Given the description of an element on the screen output the (x, y) to click on. 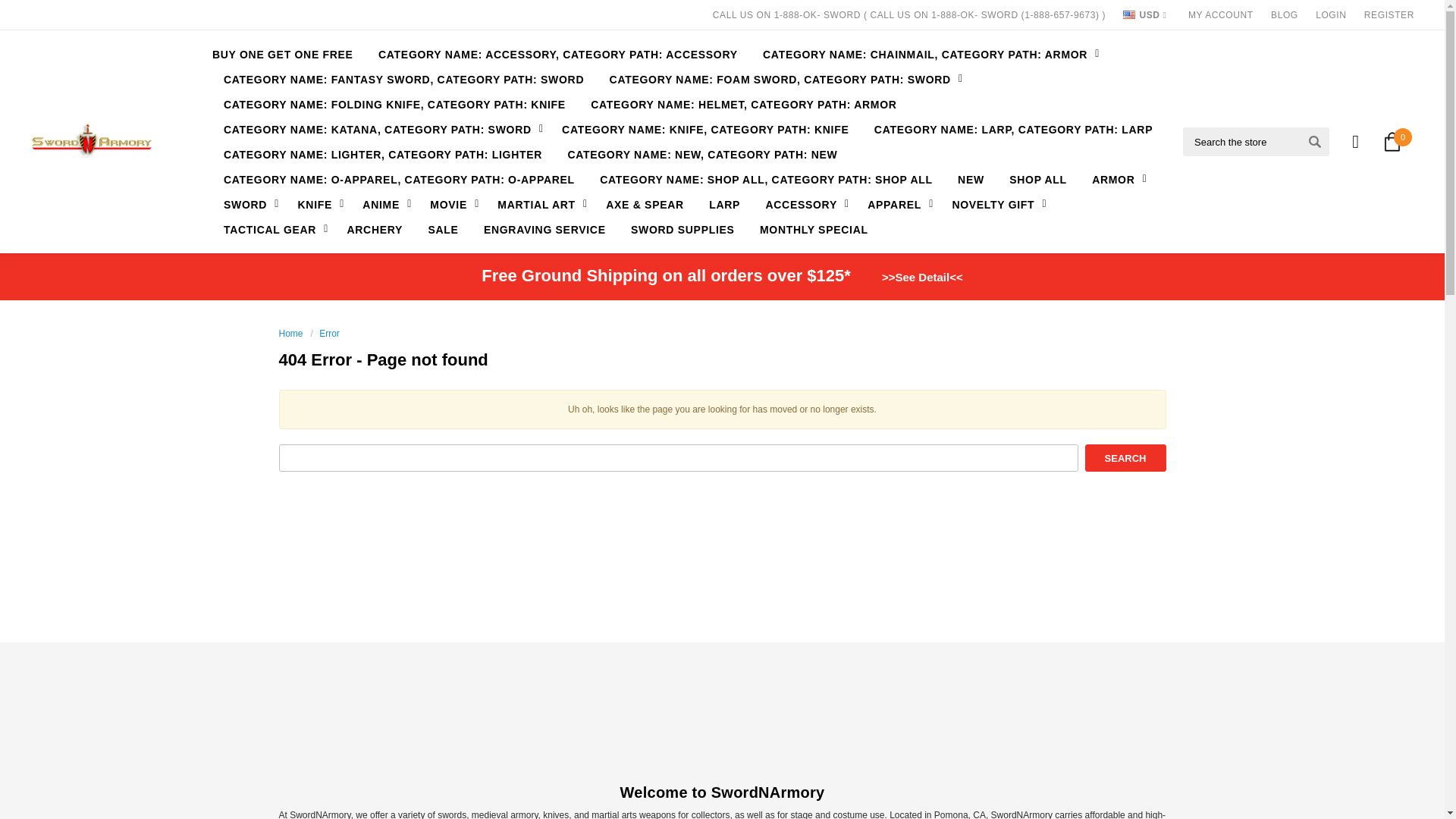
BLOG (1284, 14)
CATEGORY NAME: KNIFE, CATEGORY PATH: KNIFE (705, 129)
CATEGORY NAME: CHAINMAIL, CATEGORY PATH: ARMOR (927, 53)
NEW (970, 179)
REGISTER (1388, 14)
CATEGORY NAME: LIGHTER, CATEGORY PATH: LIGHTER (382, 154)
CATEGORY NAME: FOAM SWORD, CATEGORY PATH: SWORD (783, 78)
MY ACCOUNT (1220, 14)
USD (1144, 14)
CATEGORY NAME: ACCESSORY, CATEGORY PATH: ACCESSORY (557, 53)
CATEGORY NAME: O-APPAREL, CATEGORY PATH: O-APPAREL (399, 179)
LOGIN (1330, 14)
CATEGORY NAME: NEW, CATEGORY PATH: NEW (702, 154)
ARMOR (1115, 179)
CATEGORY NAME: HELMET, CATEGORY PATH: ARMOR (743, 104)
